Given the description of an element on the screen output the (x, y) to click on. 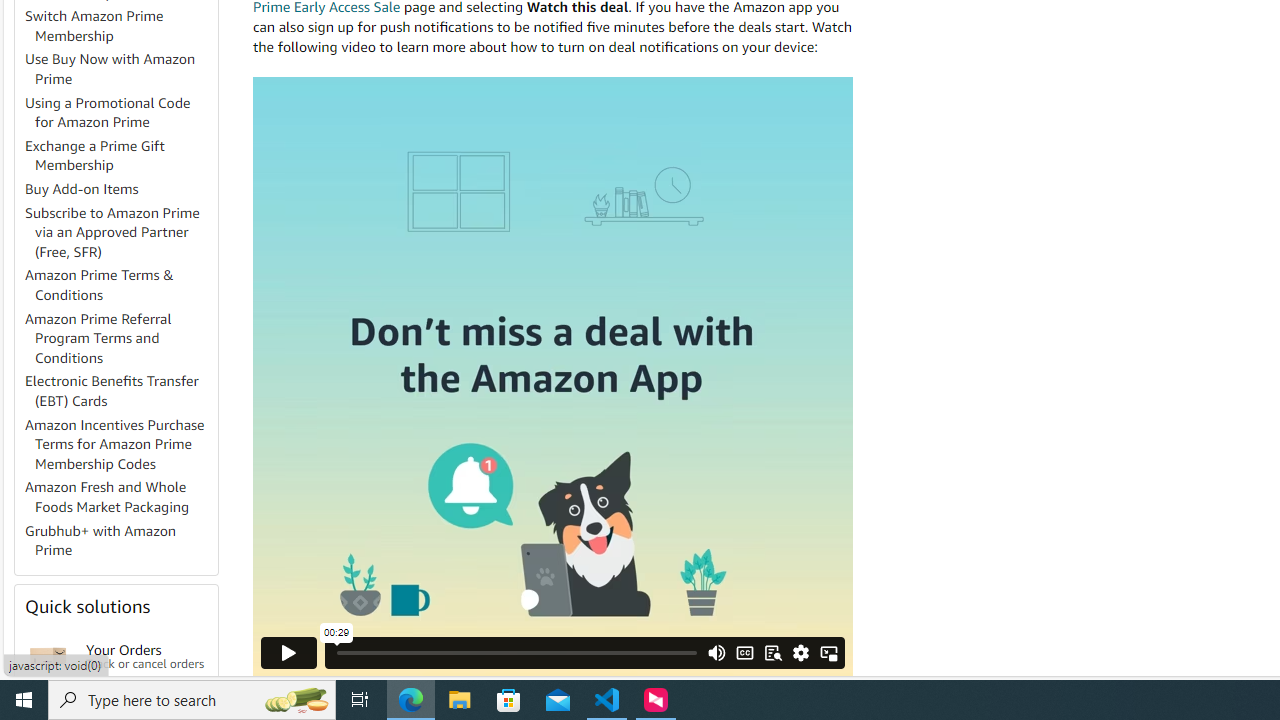
Volume (use up/down arrow keys to change) (717, 580)
Exchange a Prime Gift Membership (95, 155)
Amazon Prime Referral Program Terms and Conditions (120, 338)
Amazon Fresh and Whole Foods Market Packaging (120, 497)
Electronic Benefits Transfer (EBT) Cards (111, 390)
Amazon Prime Terms & Conditions (120, 285)
Class: PlayButton_module_playIcon__8a61c7e4 (289, 652)
Your Orders (48, 655)
Grubhub+ with Amazon Prime (120, 540)
Your Orders Track or cancel orders (145, 656)
Mute (717, 652)
Your Orders (48, 655)
